Given the description of an element on the screen output the (x, y) to click on. 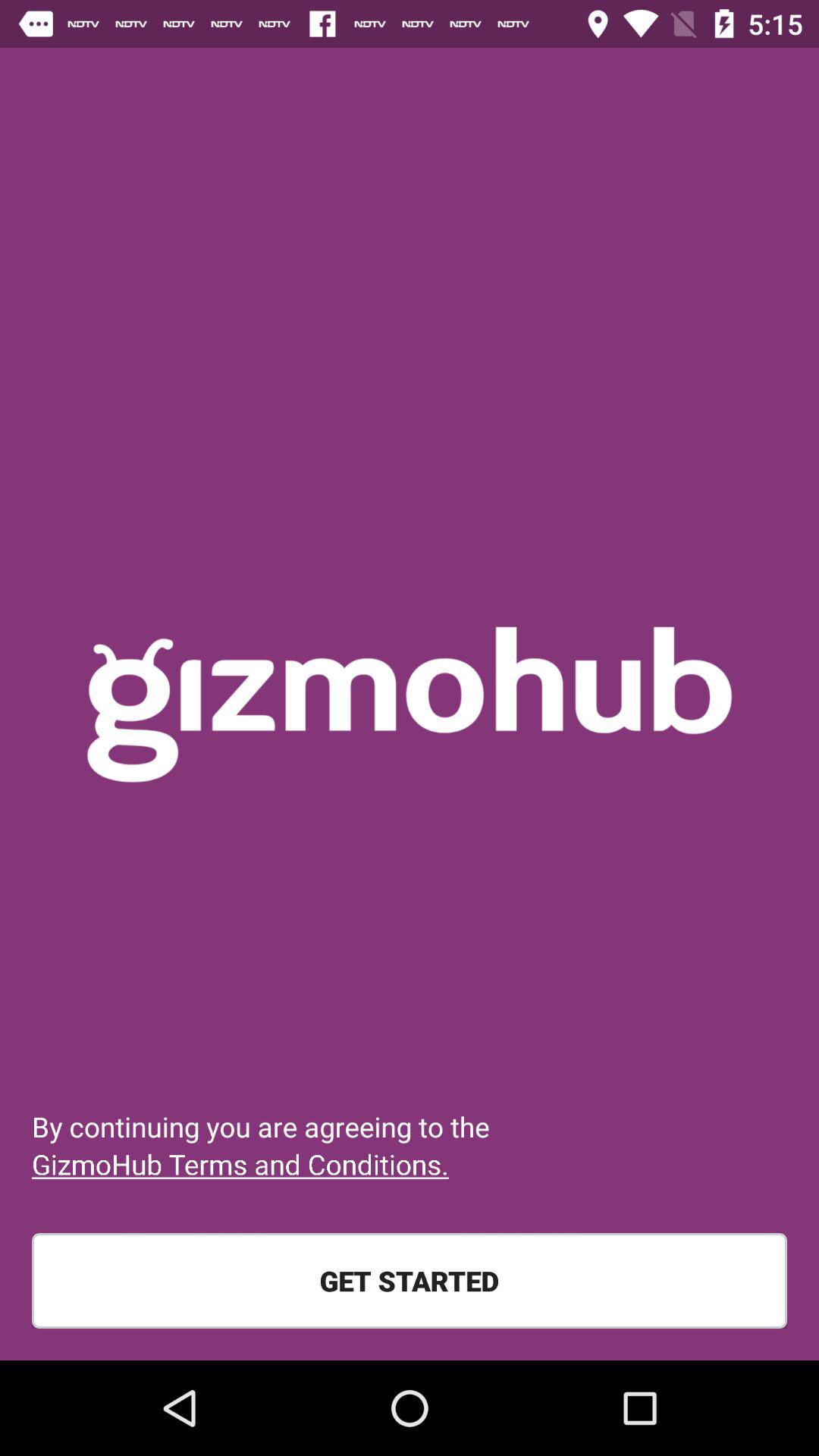
scroll until gizmohub terms and icon (239, 1164)
